Given the description of an element on the screen output the (x, y) to click on. 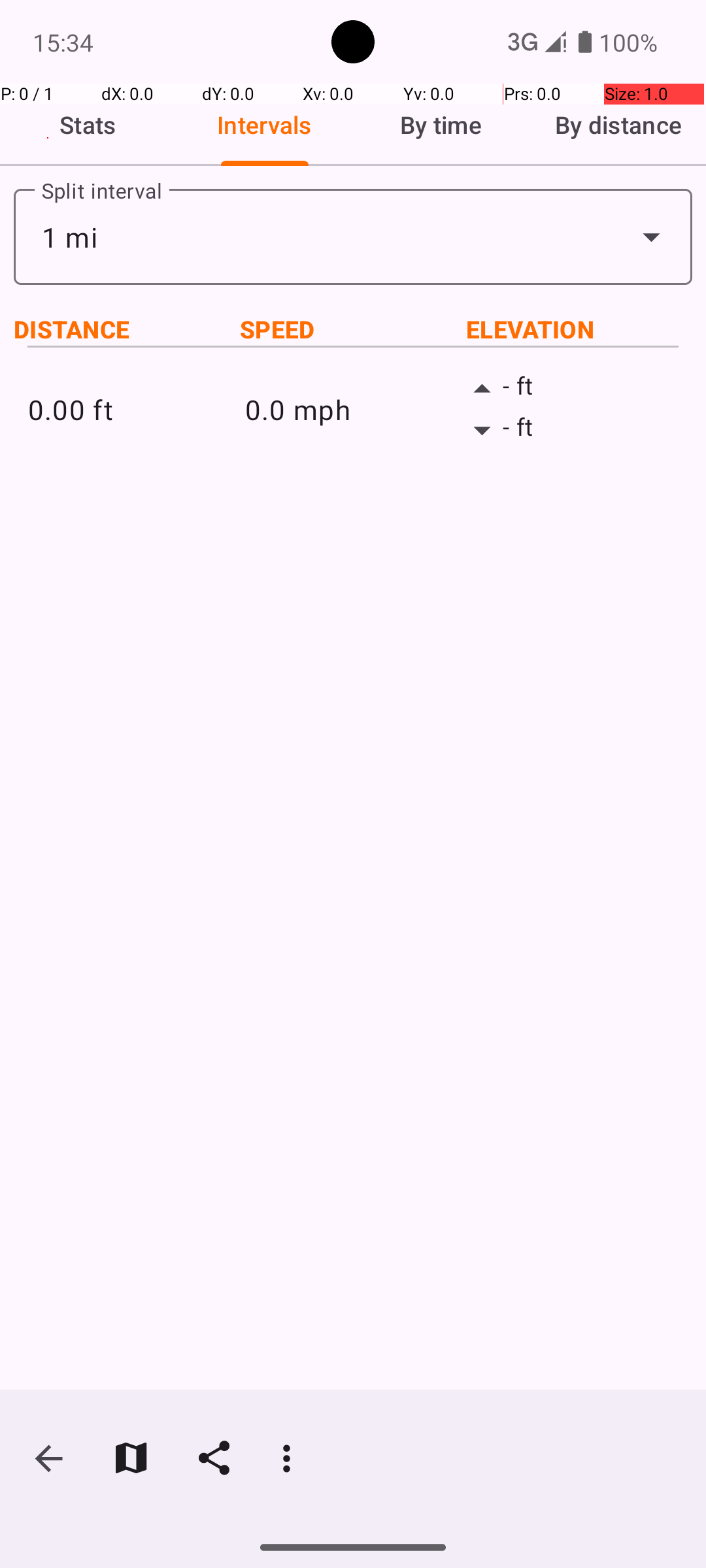
1 mi Element type: android.widget.Spinner (352, 236)
SPEED Element type: android.widget.TextView (352, 328)
ELEVATION Element type: android.widget.TextView (579, 328)
0.00 ft Element type: android.widget.TextView (135, 408)
0.0 mph Element type: android.widget.TextView (352, 408)
- ft Element type: android.widget.TextView (569, 388)
